Given the description of an element on the screen output the (x, y) to click on. 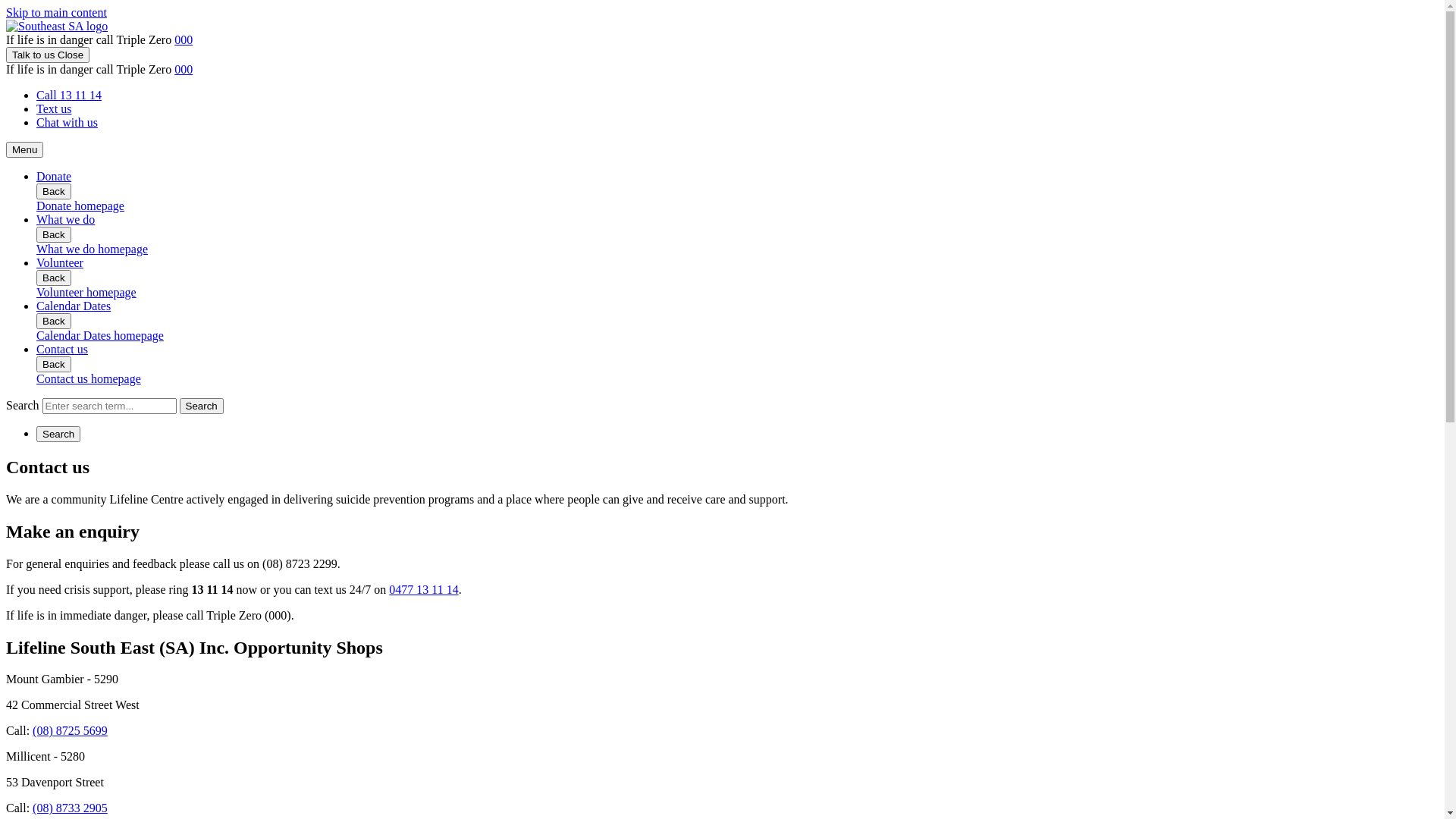
Search Element type: text (201, 406)
Back Element type: text (53, 234)
000 Element type: text (183, 68)
Chat with us Element type: text (66, 122)
Volunteer homepage Element type: text (86, 291)
Back Element type: text (53, 364)
Calendar Dates homepage Element type: text (99, 335)
Back Element type: text (53, 277)
(08) 8725 5699 Element type: text (69, 730)
Contact us homepage Element type: text (88, 378)
Back Element type: text (53, 321)
0477 13 11 14 Element type: text (423, 589)
Text us Element type: text (53, 108)
Donate Element type: text (53, 175)
Search Element type: text (58, 434)
Menu Element type: text (24, 149)
Calendar Dates Element type: text (73, 305)
What we do homepage Element type: text (91, 248)
Donate homepage Element type: text (80, 205)
Back Element type: text (53, 191)
000 Element type: text (183, 39)
Call 13 11 14 Element type: text (68, 94)
(08) 8733 2905 Element type: text (69, 807)
Talk to us Close Element type: text (47, 54)
Contact us Element type: text (61, 348)
Skip to main content Element type: text (56, 12)
What we do Element type: text (65, 219)
Volunteer Element type: text (59, 262)
